Given the description of an element on the screen output the (x, y) to click on. 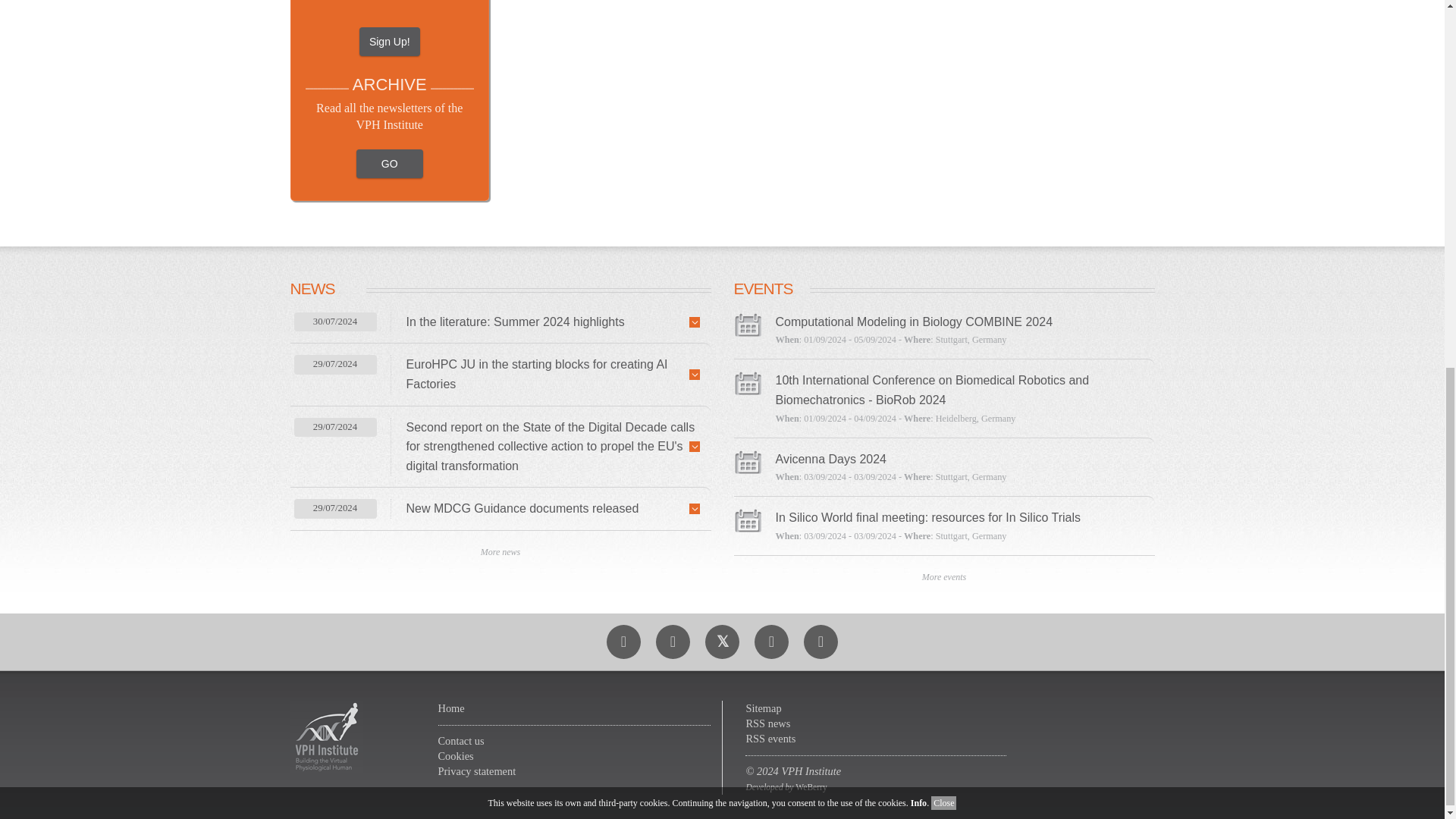
Sign Up! (389, 41)
GO (389, 163)
Sign Up! (389, 41)
